Given the description of an element on the screen output the (x, y) to click on. 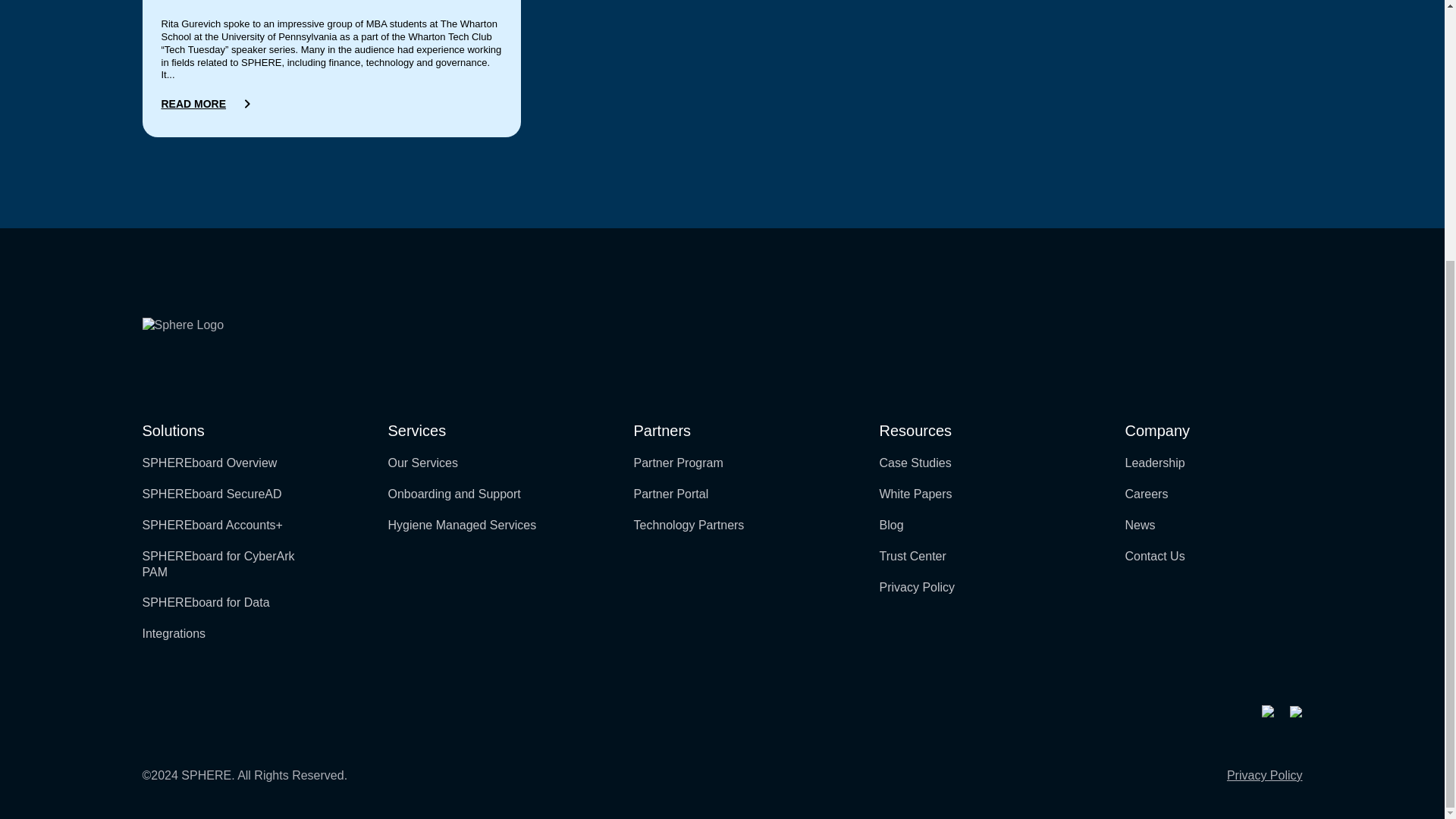
Opens in new window to LinkedIn (1268, 711)
Opens in new window to Twitter (1294, 711)
